Given the description of an element on the screen output the (x, y) to click on. 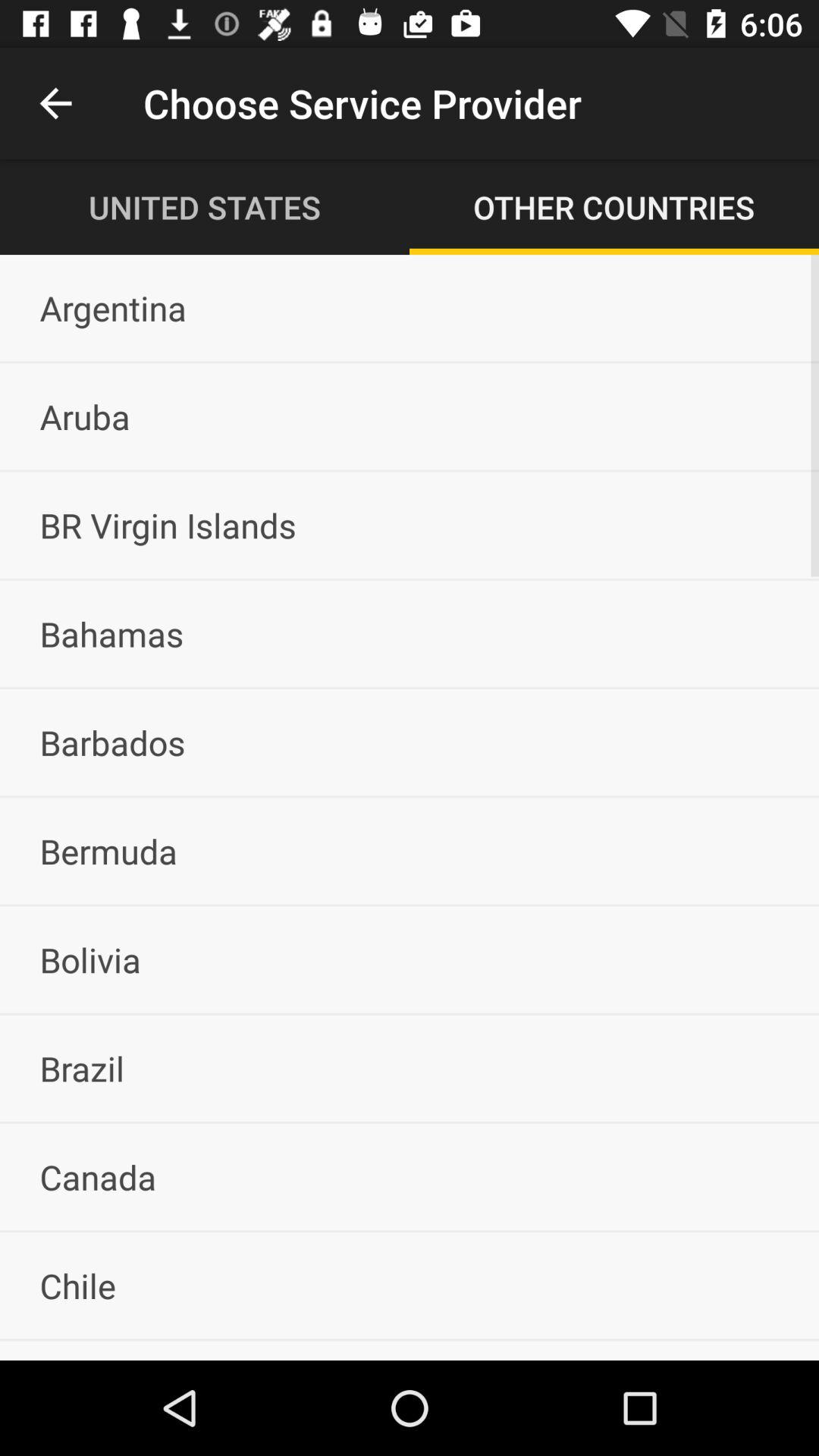
select icon below br virgin islands icon (409, 633)
